Given the description of an element on the screen output the (x, y) to click on. 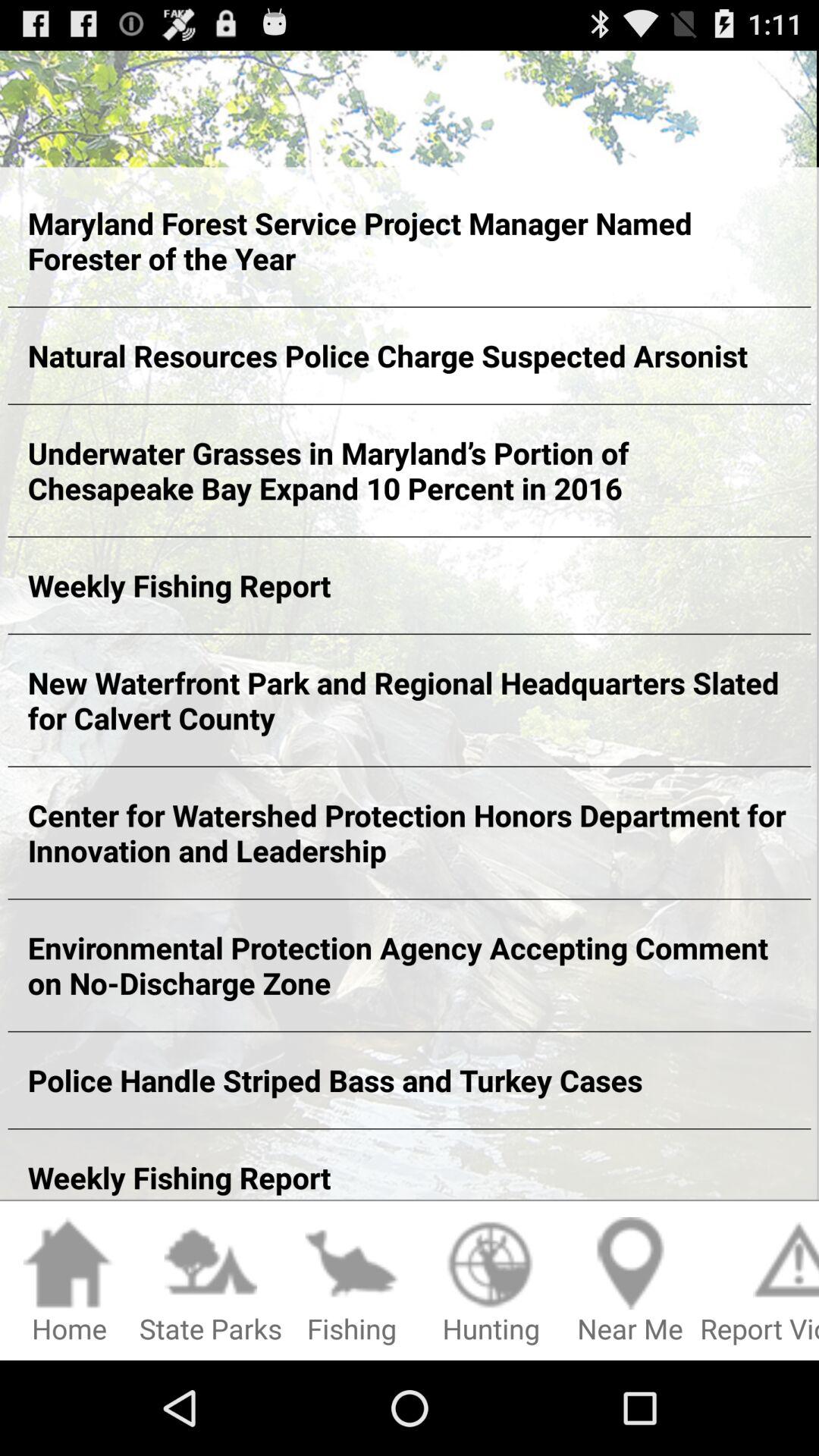
turn off state parks item (210, 1282)
